Given the description of an element on the screen output the (x, y) to click on. 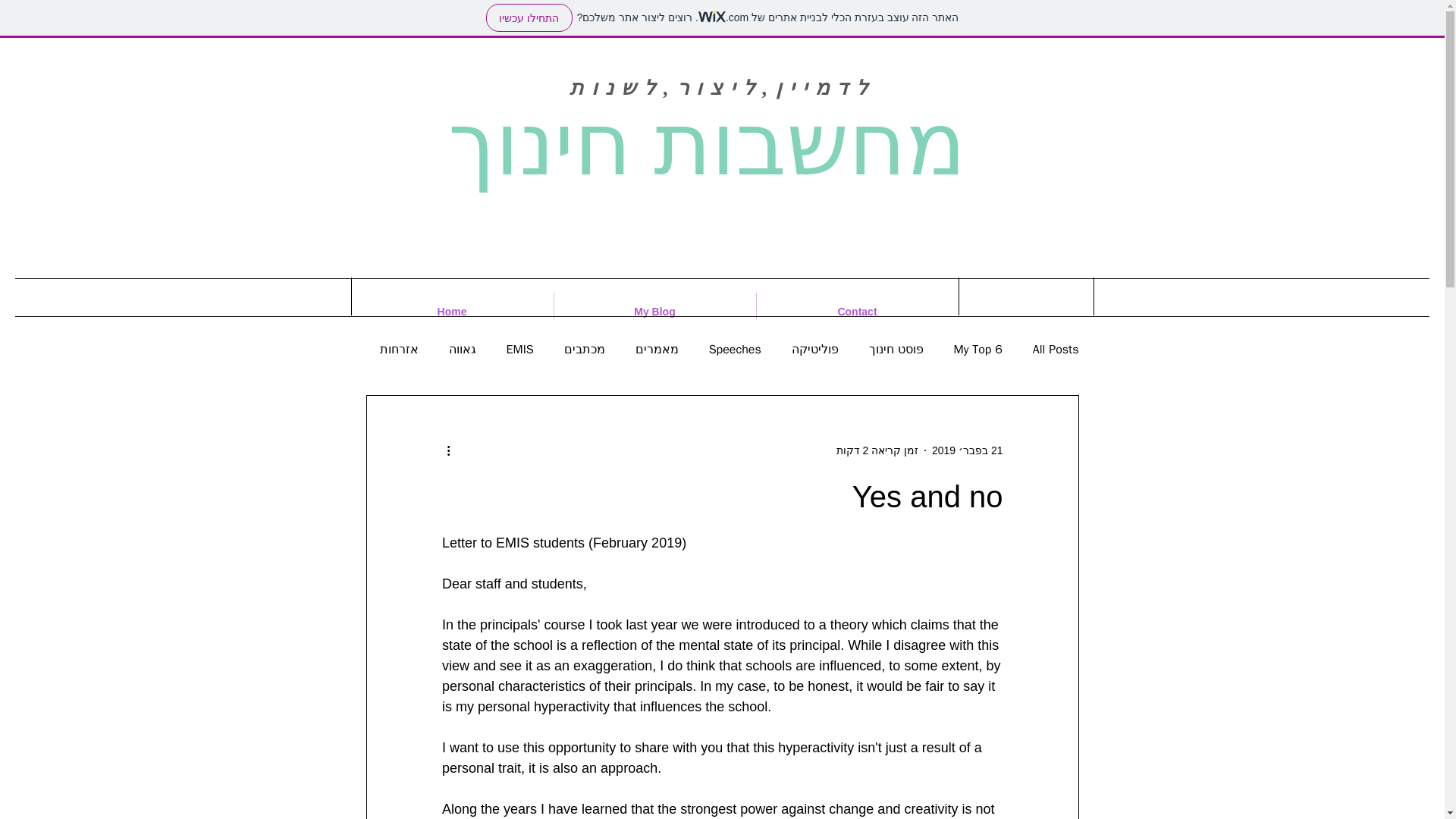
My Blog (654, 311)
Contact (857, 311)
EMIS (520, 349)
Speeches (735, 349)
All Posts (1055, 349)
My Top 6 (978, 349)
Home (451, 311)
